Given the description of an element on the screen output the (x, y) to click on. 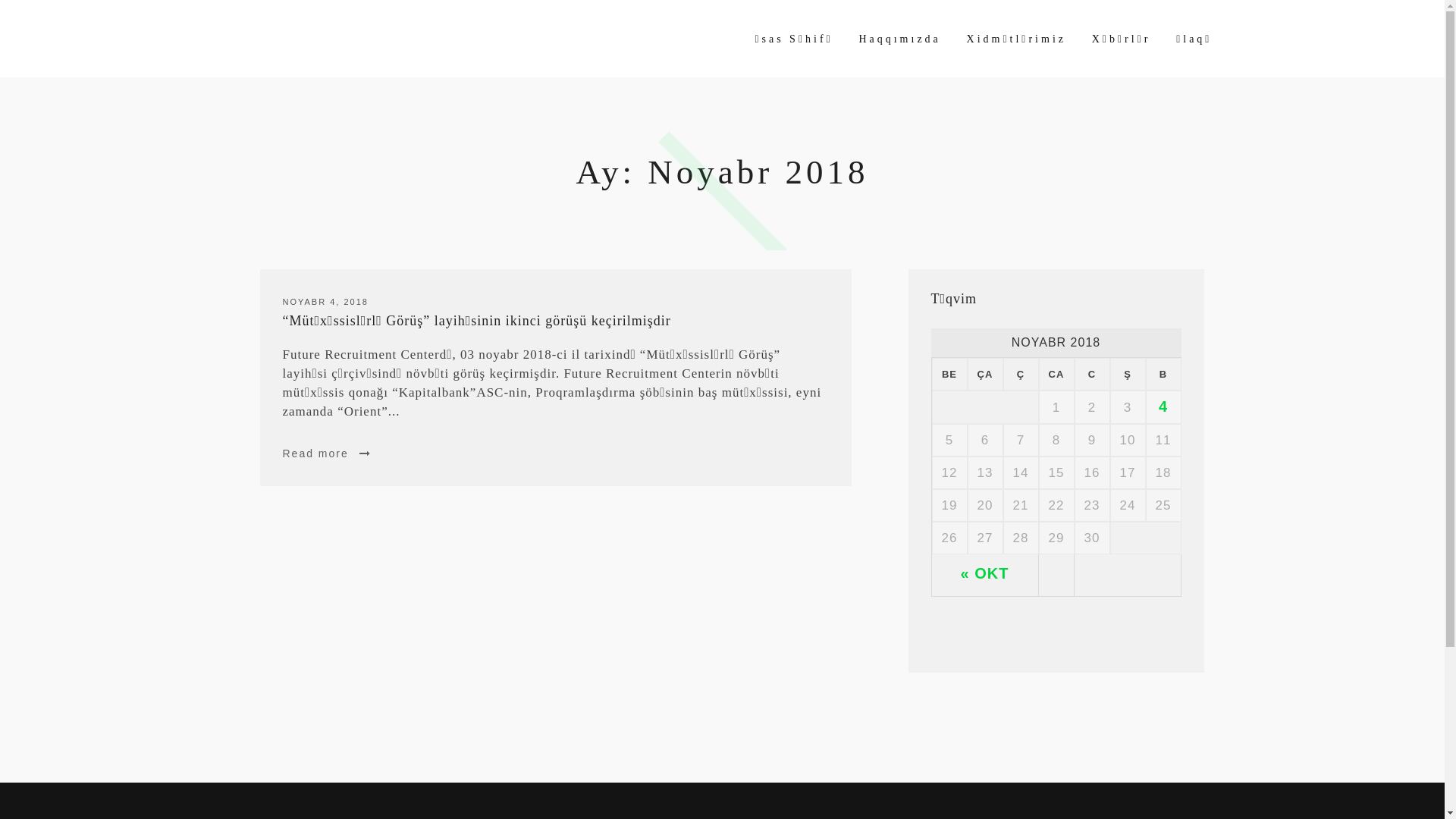
4 Element type: text (1162, 406)
